Given the description of an element on the screen output the (x, y) to click on. 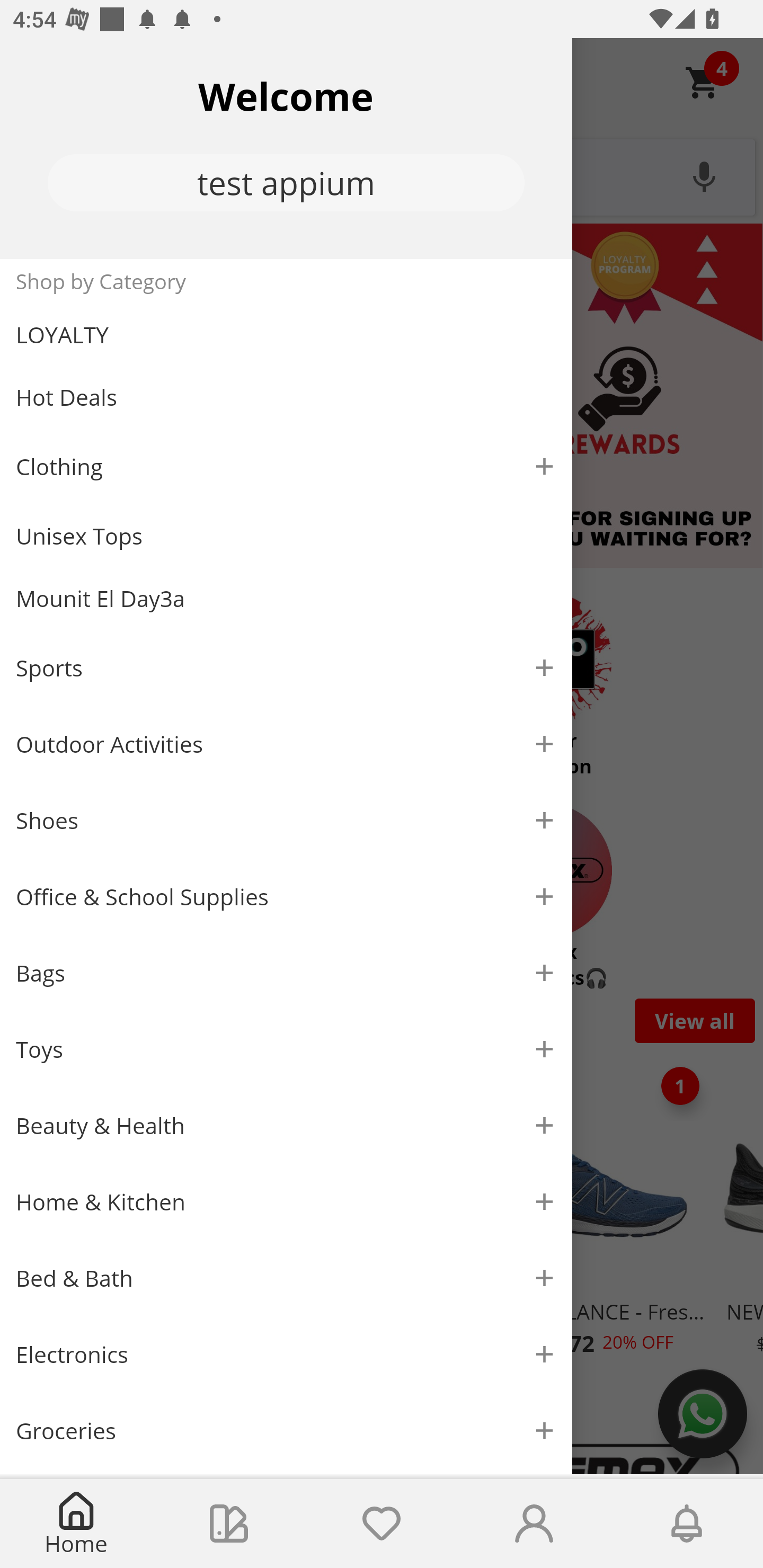
Welcome test appium (286, 147)
What are you looking for? (381, 175)
LOYALTY (286, 334)
Hot Deals (286, 396)
Clothing (286, 466)
Unisex Tops (286, 535)
Mounit El Day3a (286, 598)
Sports (286, 667)
Outdoor Activities (286, 743)
Shoes (286, 820)
Office & School Supplies (286, 896)
Bags (286, 972)
Toys (286, 1049)
1 NEW BALANCE - 860 Running Shoes $100 $80 20% OFF (119, 1209)
Beauty & Health (286, 1125)
Home & Kitchen (286, 1201)
Bed & Bath (286, 1278)
Electronics (286, 1354)
Groceries (286, 1430)
Collections (228, 1523)
Wishlist (381, 1523)
Account (533, 1523)
Notifications (686, 1523)
